Given the description of an element on the screen output the (x, y) to click on. 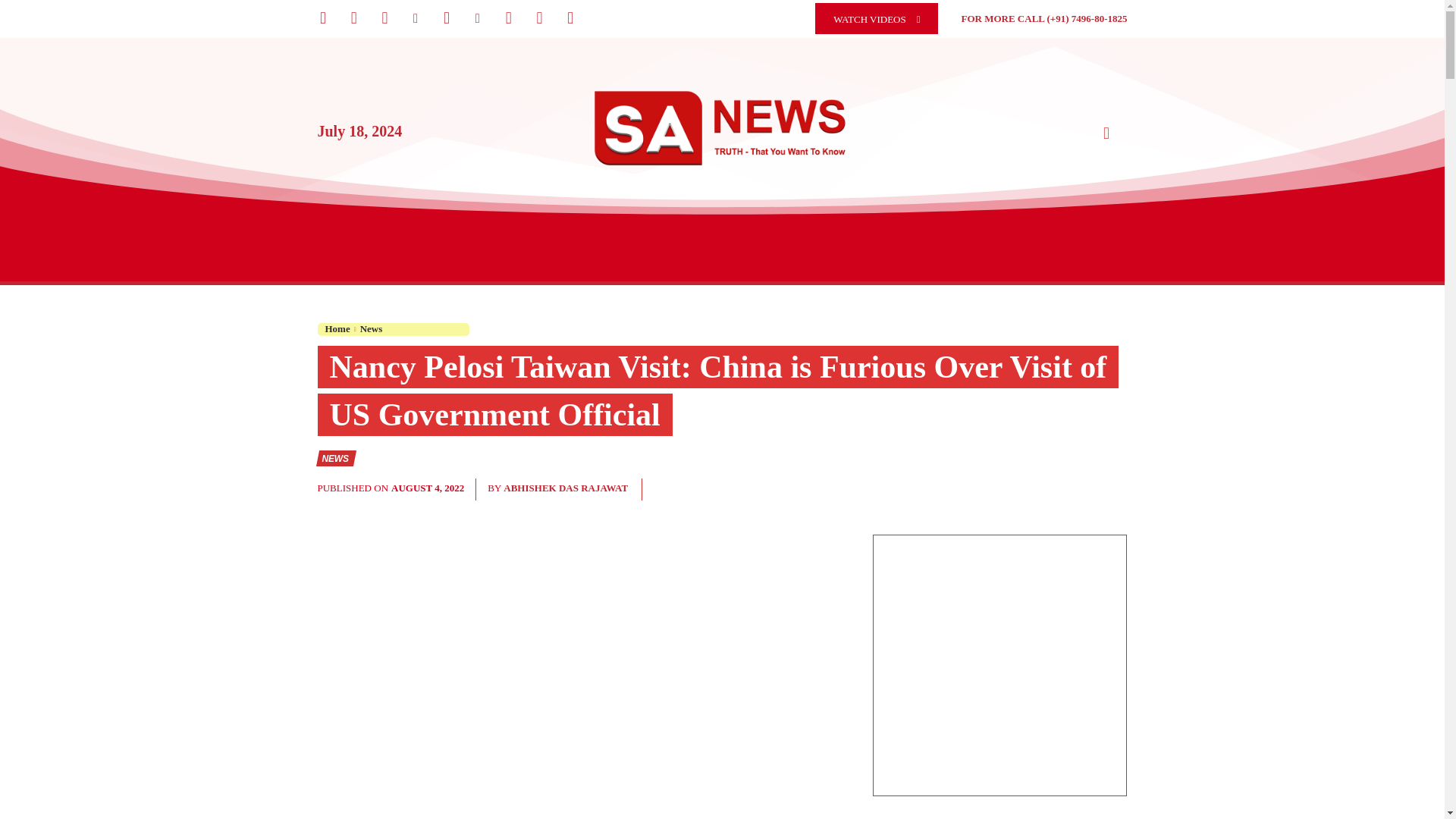
Koo (384, 18)
Instagram (353, 18)
Facebook (322, 18)
